Given the description of an element on the screen output the (x, y) to click on. 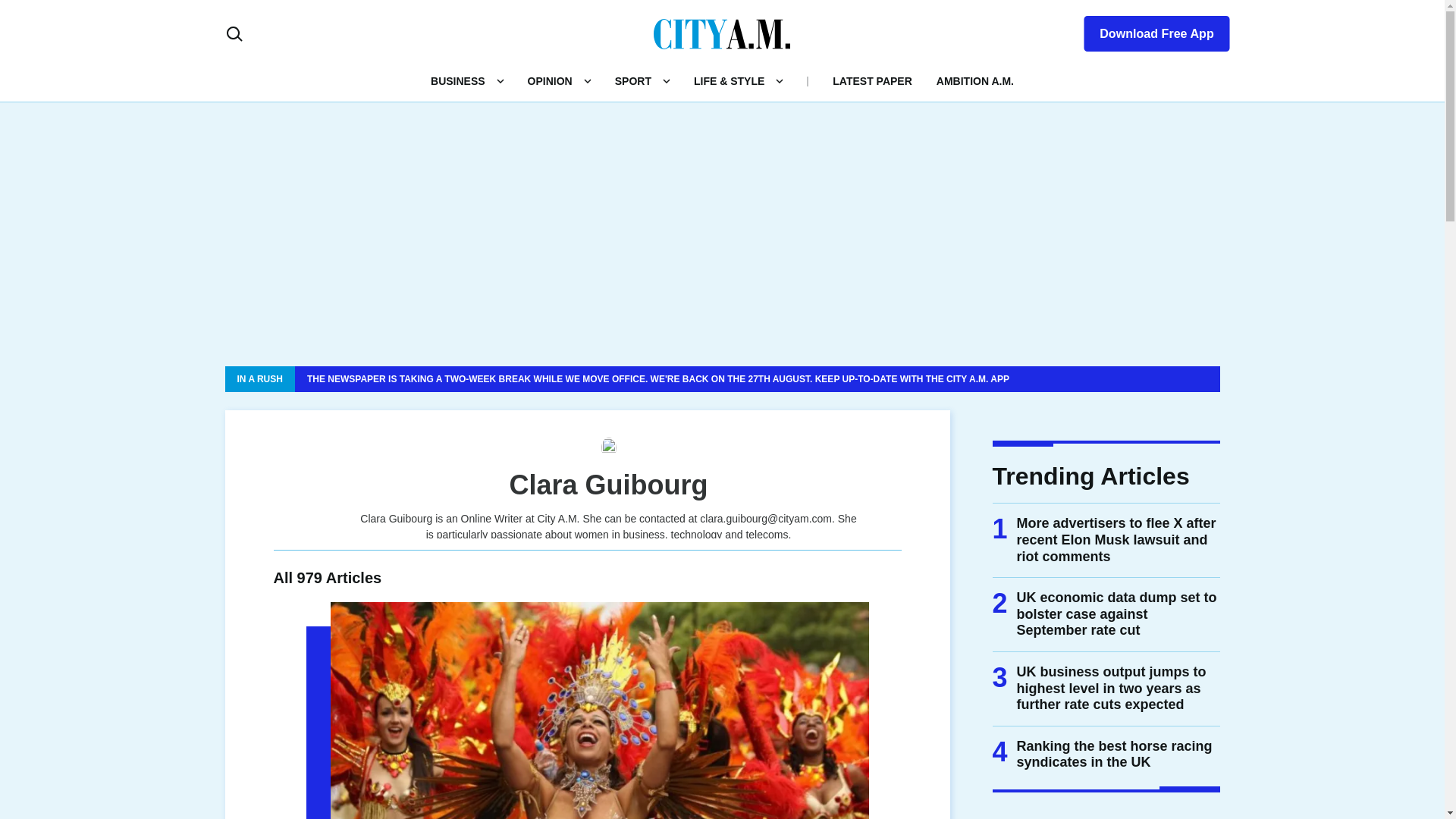
Download Free App (1146, 30)
OPINION (549, 80)
BUSINESS (457, 80)
CityAM (721, 33)
SPORT (632, 80)
